Given the description of an element on the screen output the (x, y) to click on. 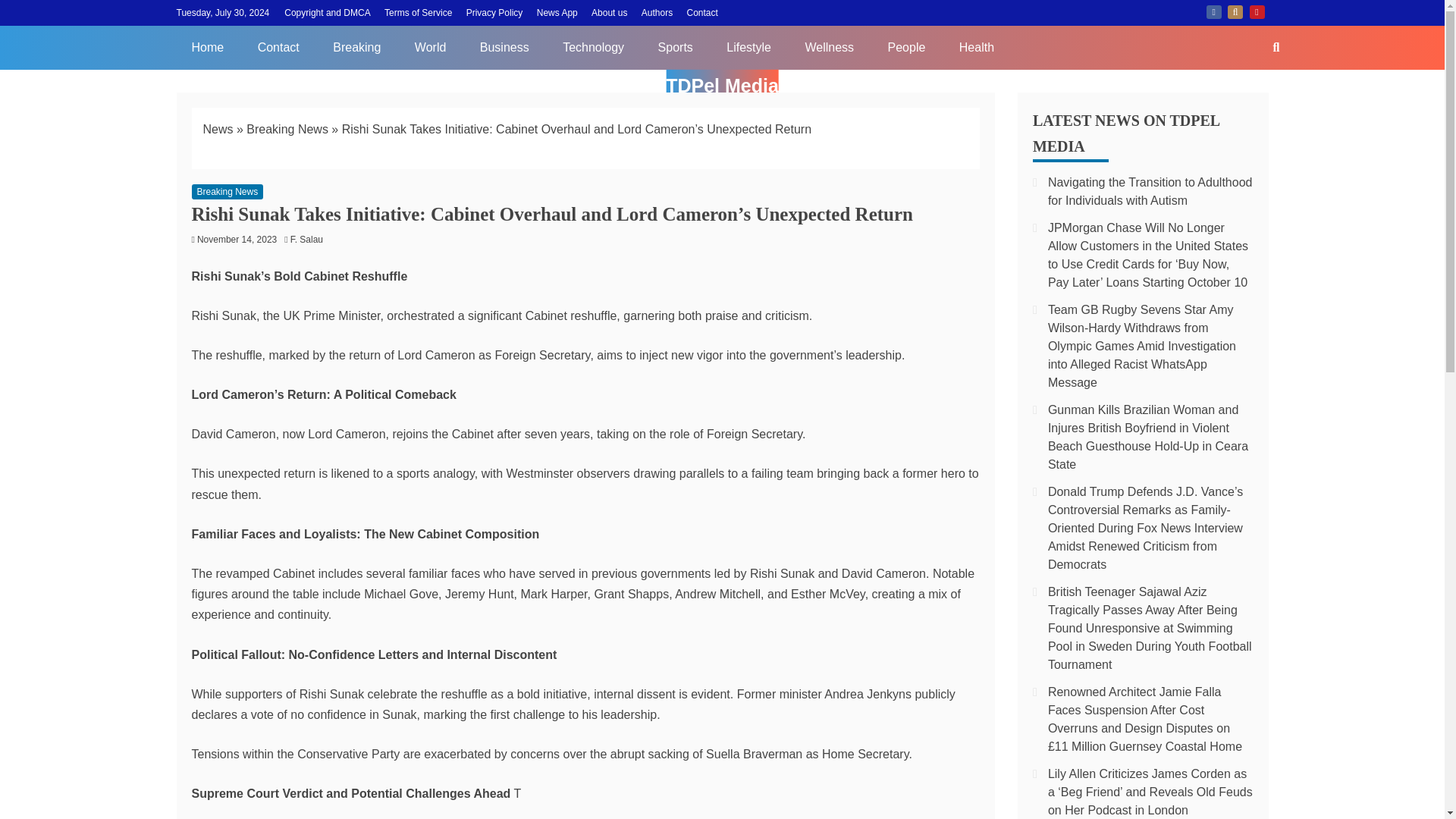
Contact (702, 12)
News App (557, 12)
Health (976, 46)
Pinterest (1257, 11)
People (906, 46)
Home (207, 46)
World (429, 46)
News (217, 128)
Business (504, 46)
Breaking News (287, 128)
Sports (675, 46)
Facebook (1214, 11)
Wellness (829, 46)
Copyright and DMCA (326, 12)
Technology (593, 46)
